Given the description of an element on the screen output the (x, y) to click on. 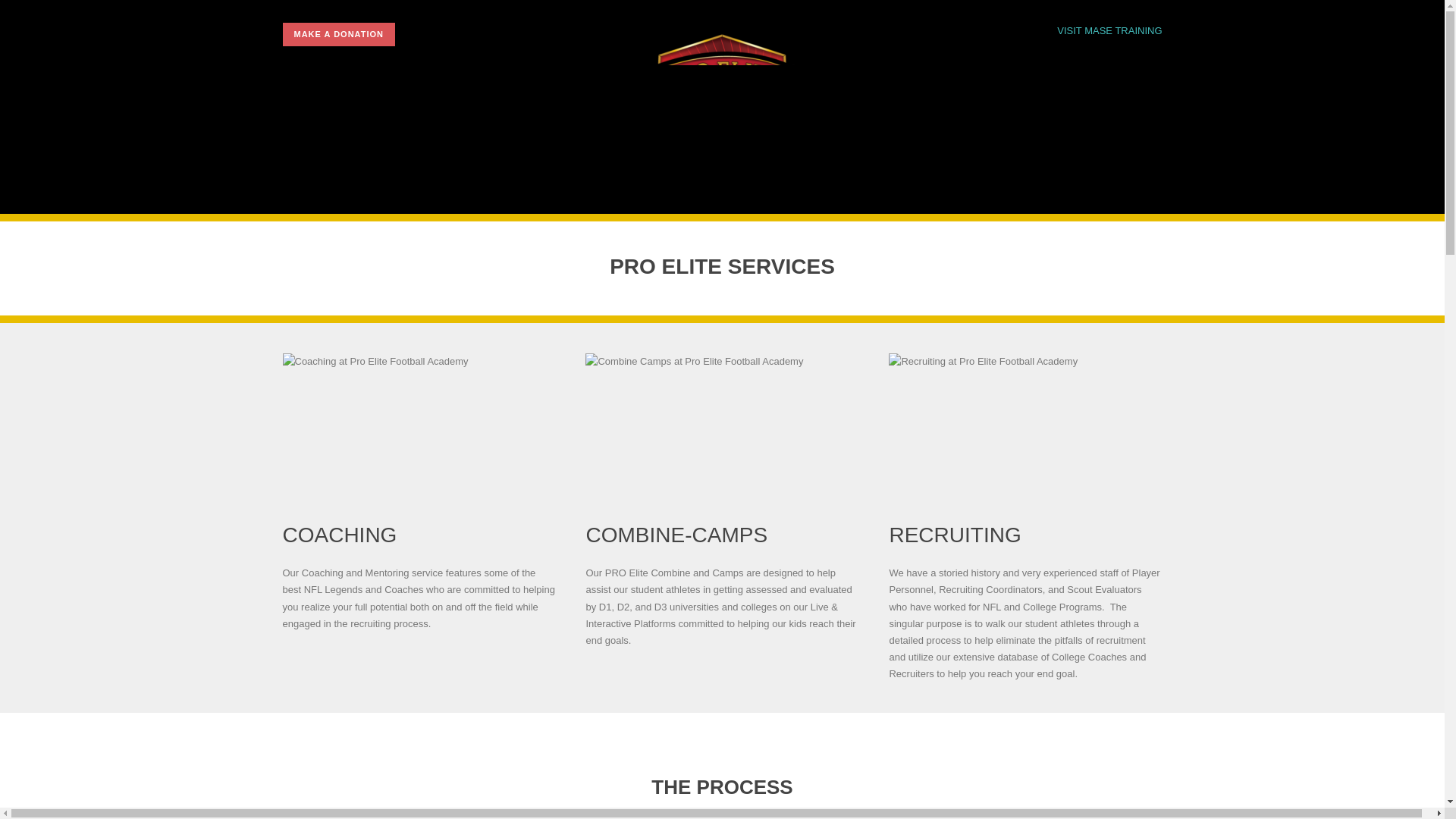
Search (39, 16)
VISIT MASE TRAINING (1109, 30)
coaching (418, 420)
recruiting (1024, 420)
combine-camps (722, 420)
Pro-Elite-Logo (721, 110)
MAKE A DONATION (338, 33)
